Given the description of an element on the screen output the (x, y) to click on. 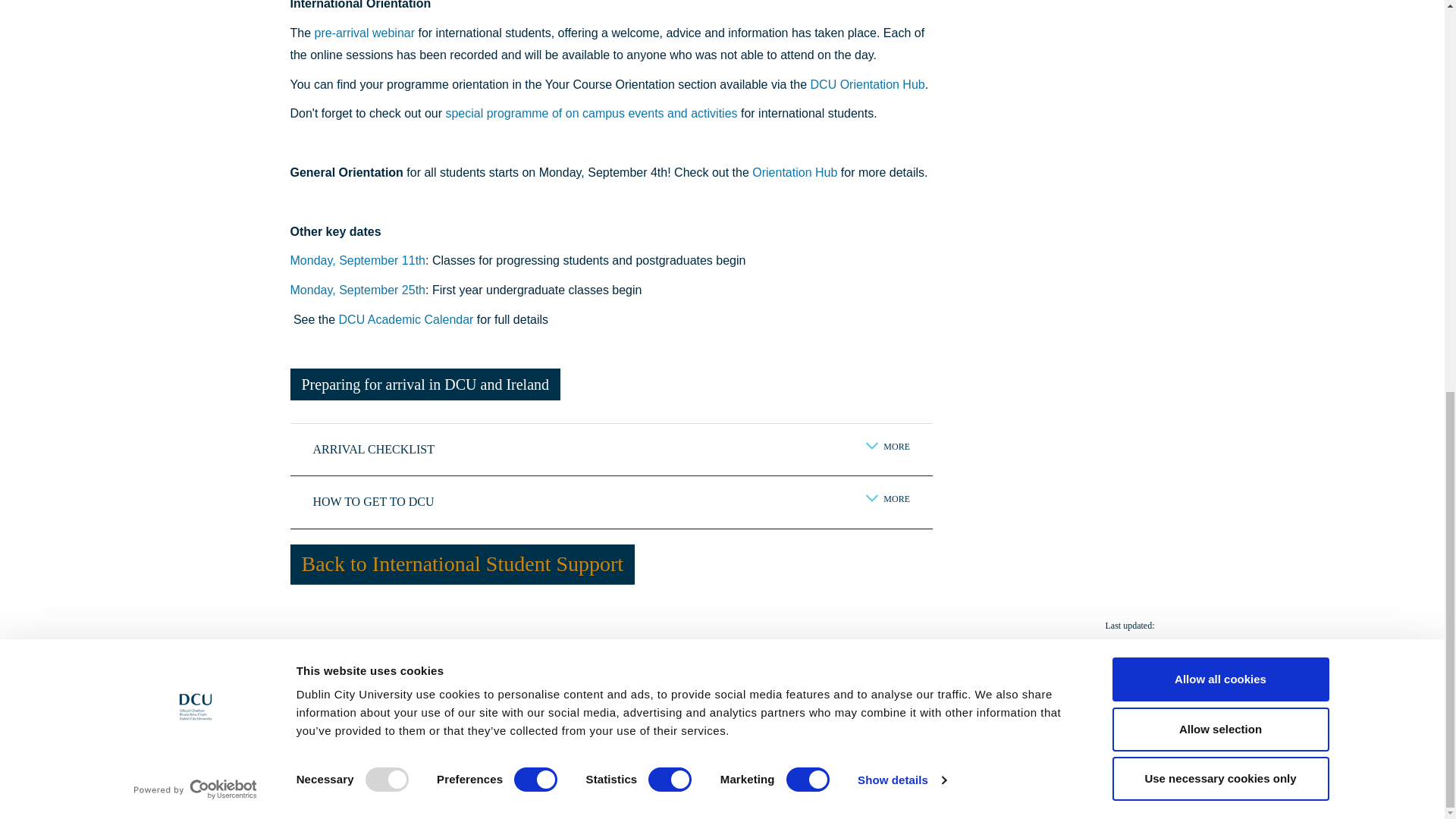
Show details (900, 30)
